Given the description of an element on the screen output the (x, y) to click on. 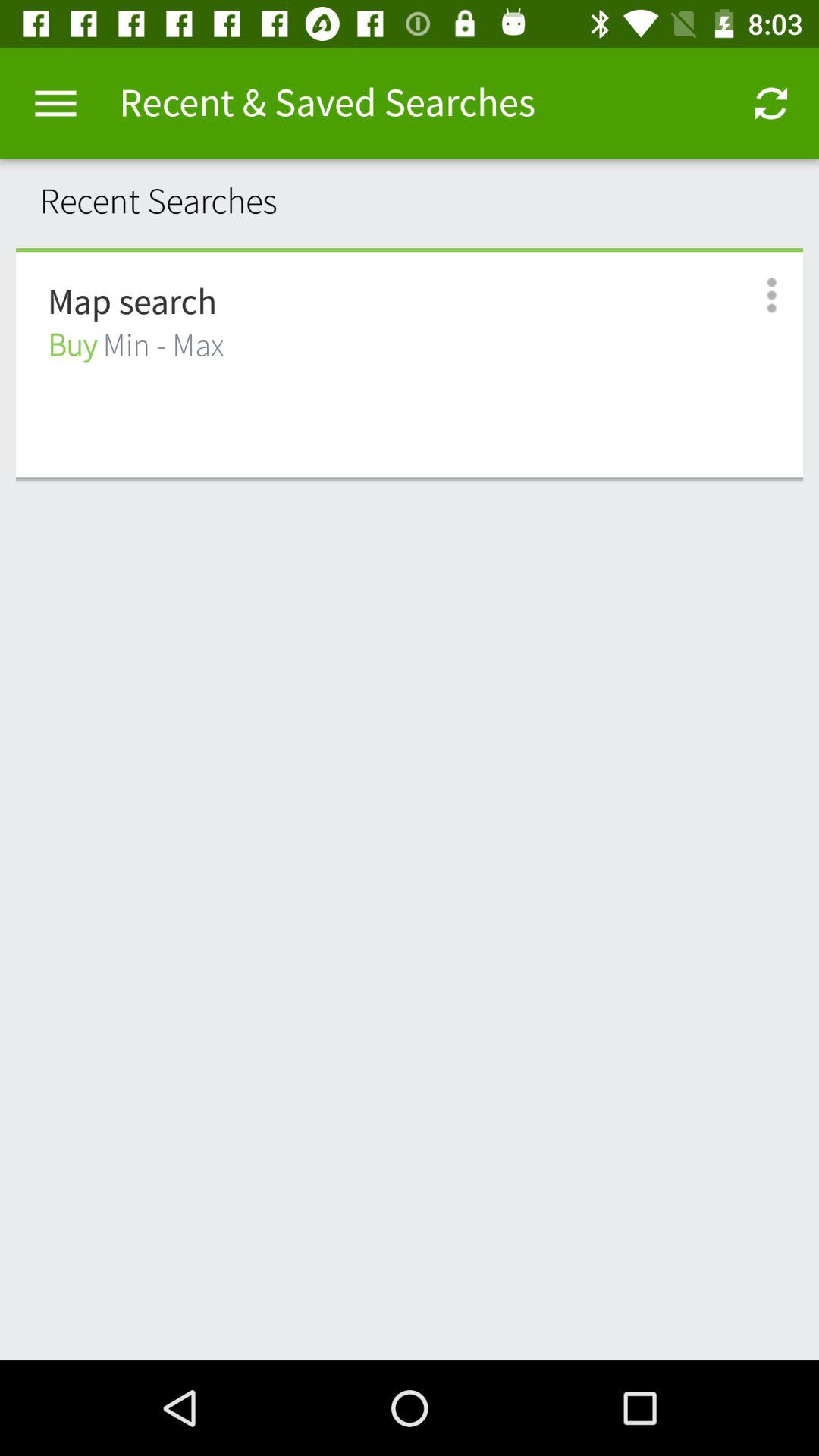
launch item next to the recent & saved searches item (55, 103)
